Given the description of an element on the screen output the (x, y) to click on. 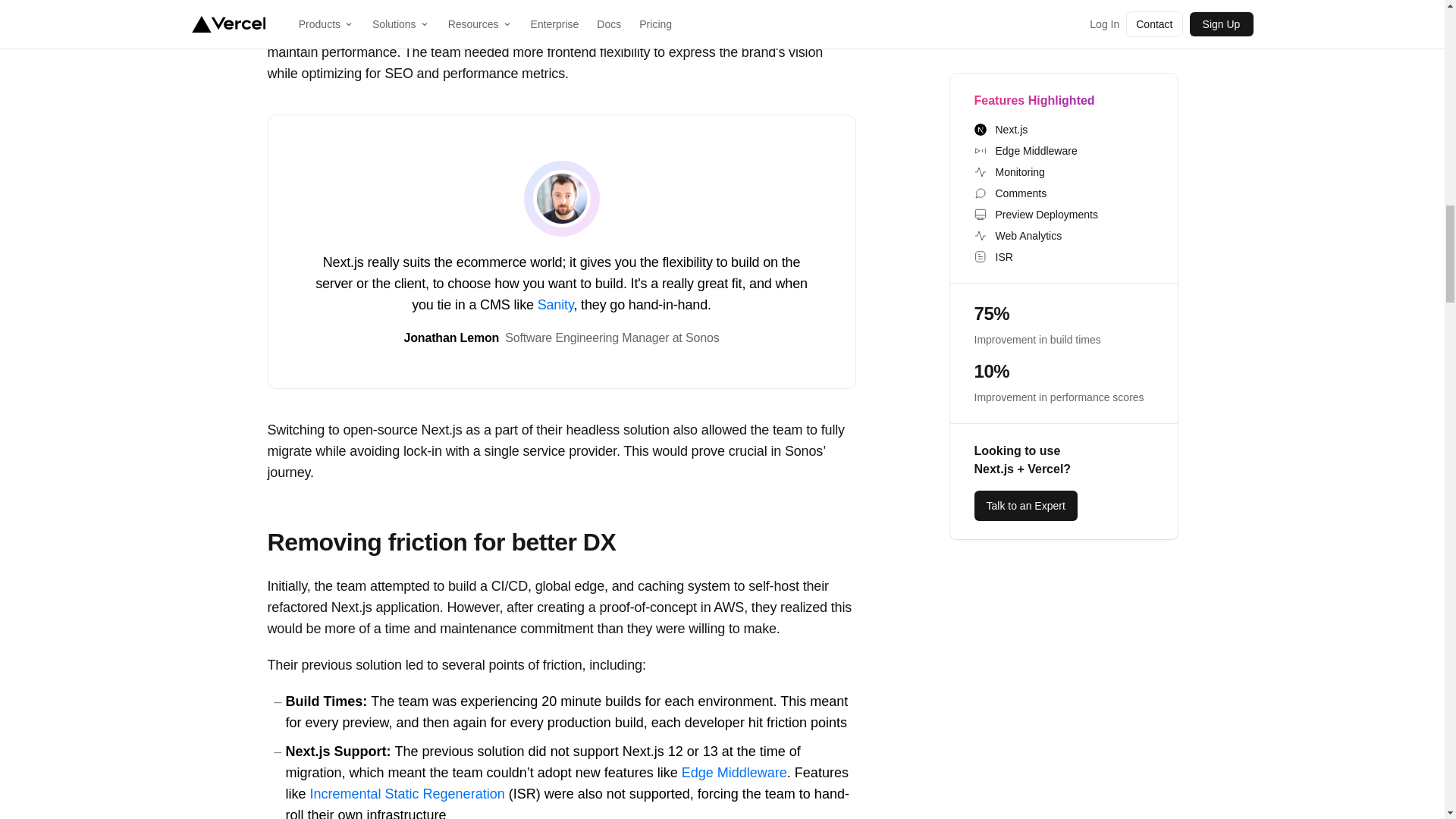
Sanity (555, 304)
Removing friction for better DX (440, 542)
